Given the description of an element on the screen output the (x, y) to click on. 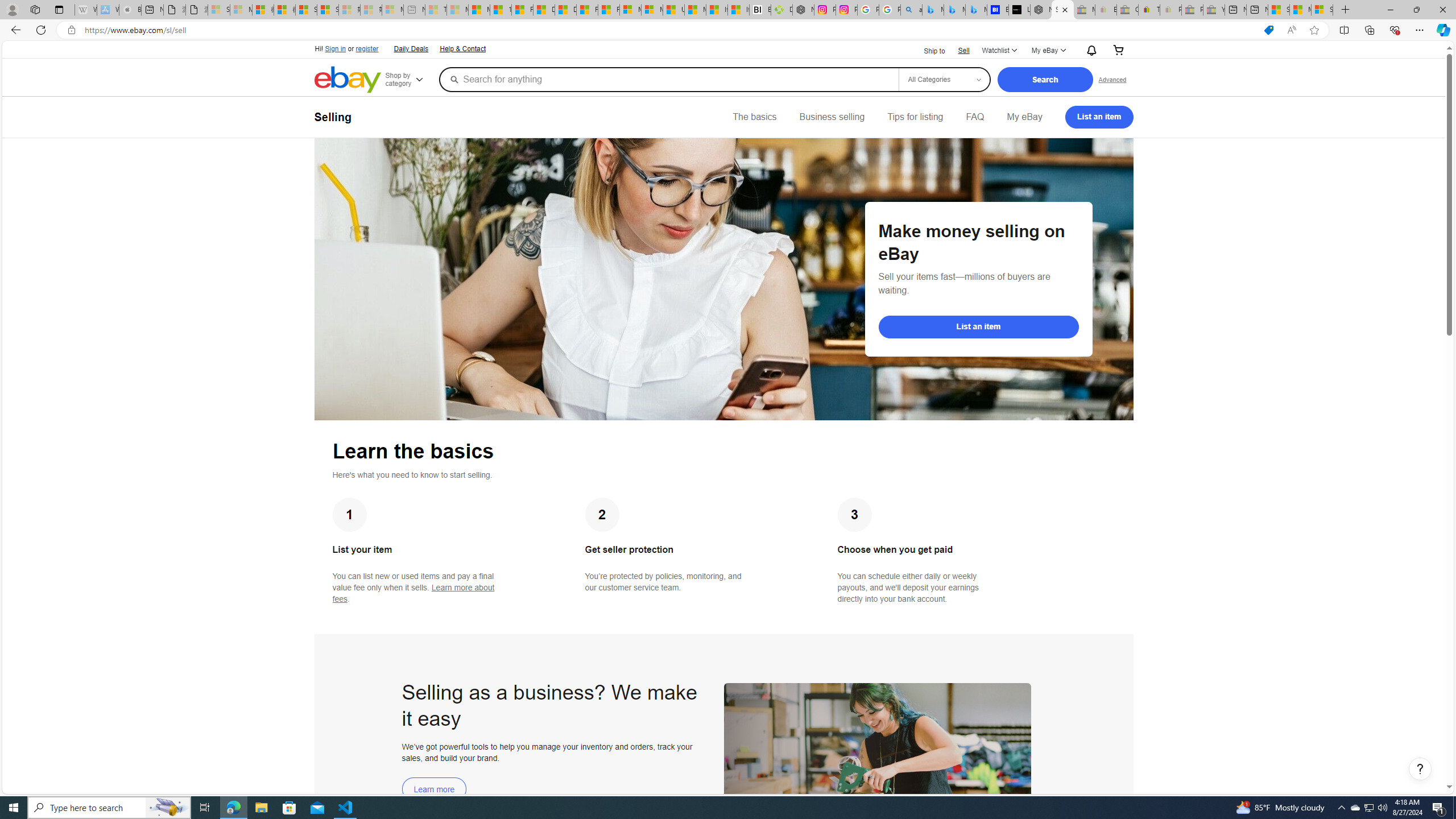
Sign in to your Microsoft account (1322, 9)
alabama high school quarterback dies - Search (911, 9)
Microsoft account | Account Checkup - Sleeping (392, 9)
Sell (963, 49)
Tips for listing (914, 116)
